Given the description of an element on the screen output the (x, y) to click on. 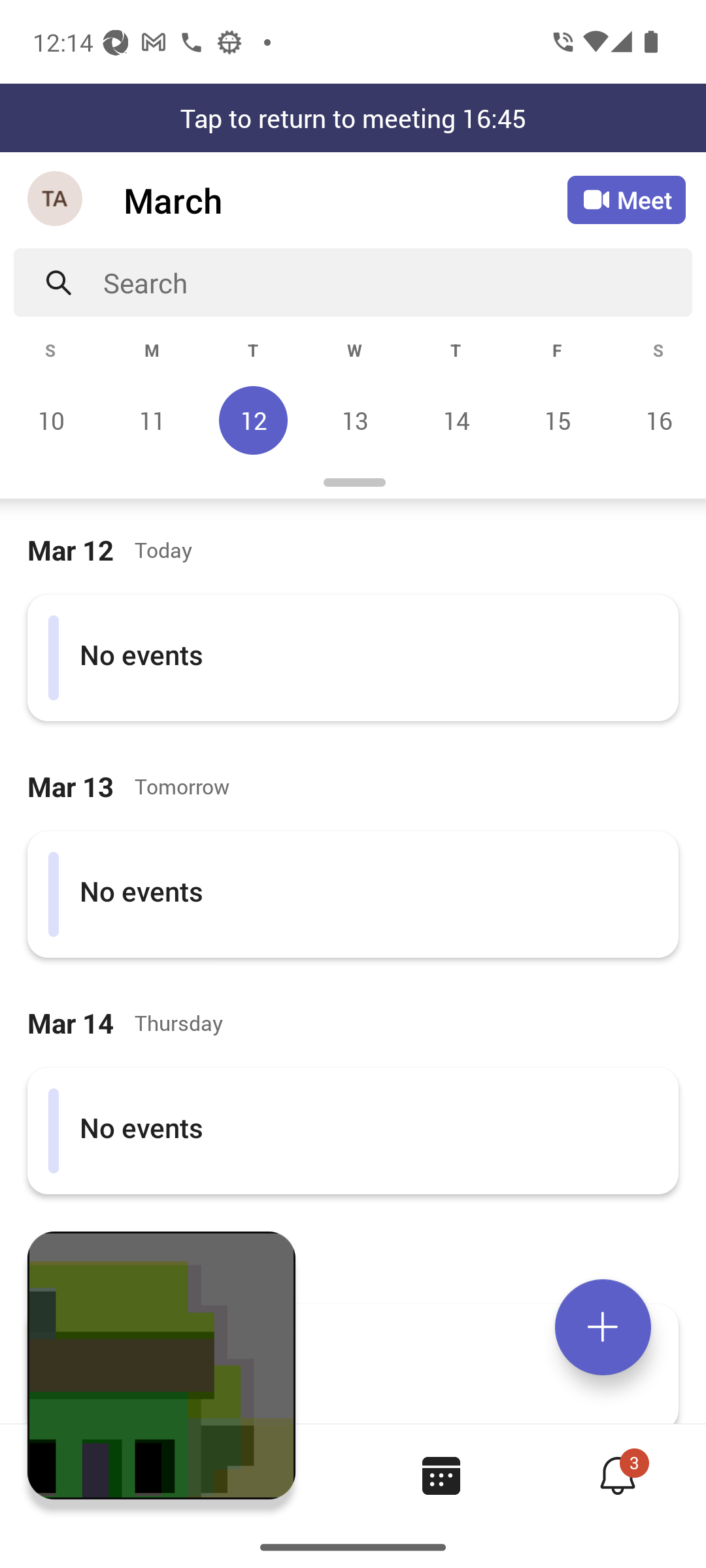
Tap to return to meeting 16:45 (353, 117)
Navigation (56, 199)
Meet Meet now or join with an ID (626, 199)
March March Calendar Agenda View (345, 199)
Search (397, 281)
Sunday, March 10 10 (50, 420)
Monday, March 11 11 (151, 420)
Tuesday, March 12, Today, Selected 12 (253, 420)
Wednesday, March 13 13 (354, 420)
Thursday, March 14 14 (455, 420)
Friday, March 15 15 (556, 420)
Saturday, March 16 16 (656, 420)
Expand meetings menu (602, 1327)
Calendar tab, 3 of 4 (441, 1475)
Activity tab,4 of 4, not selected, 3 new 3 (617, 1475)
